Given the description of an element on the screen output the (x, y) to click on. 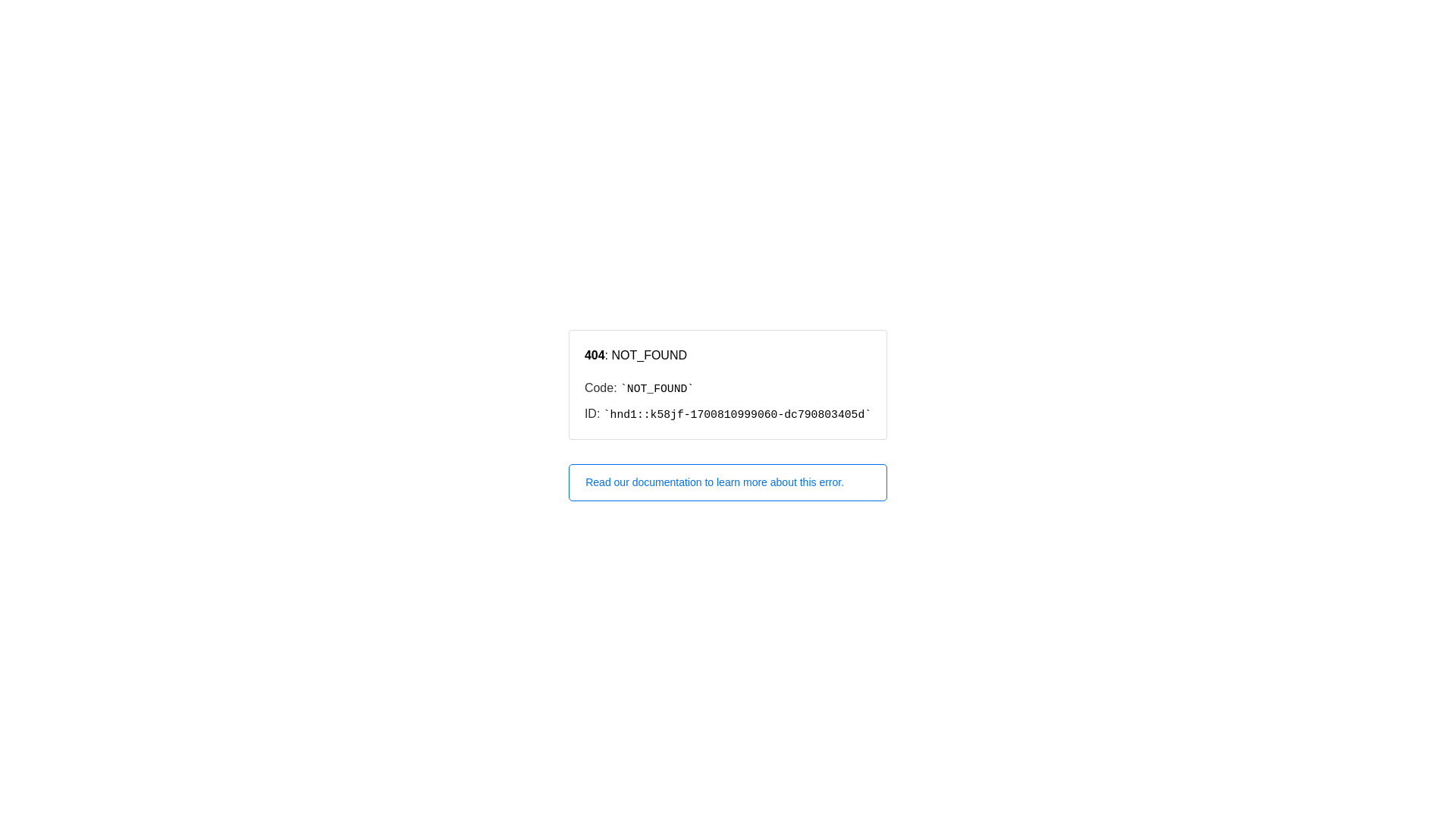
Read our documentation to learn more about this error. Element type: text (727, 482)
